Given the description of an element on the screen output the (x, y) to click on. 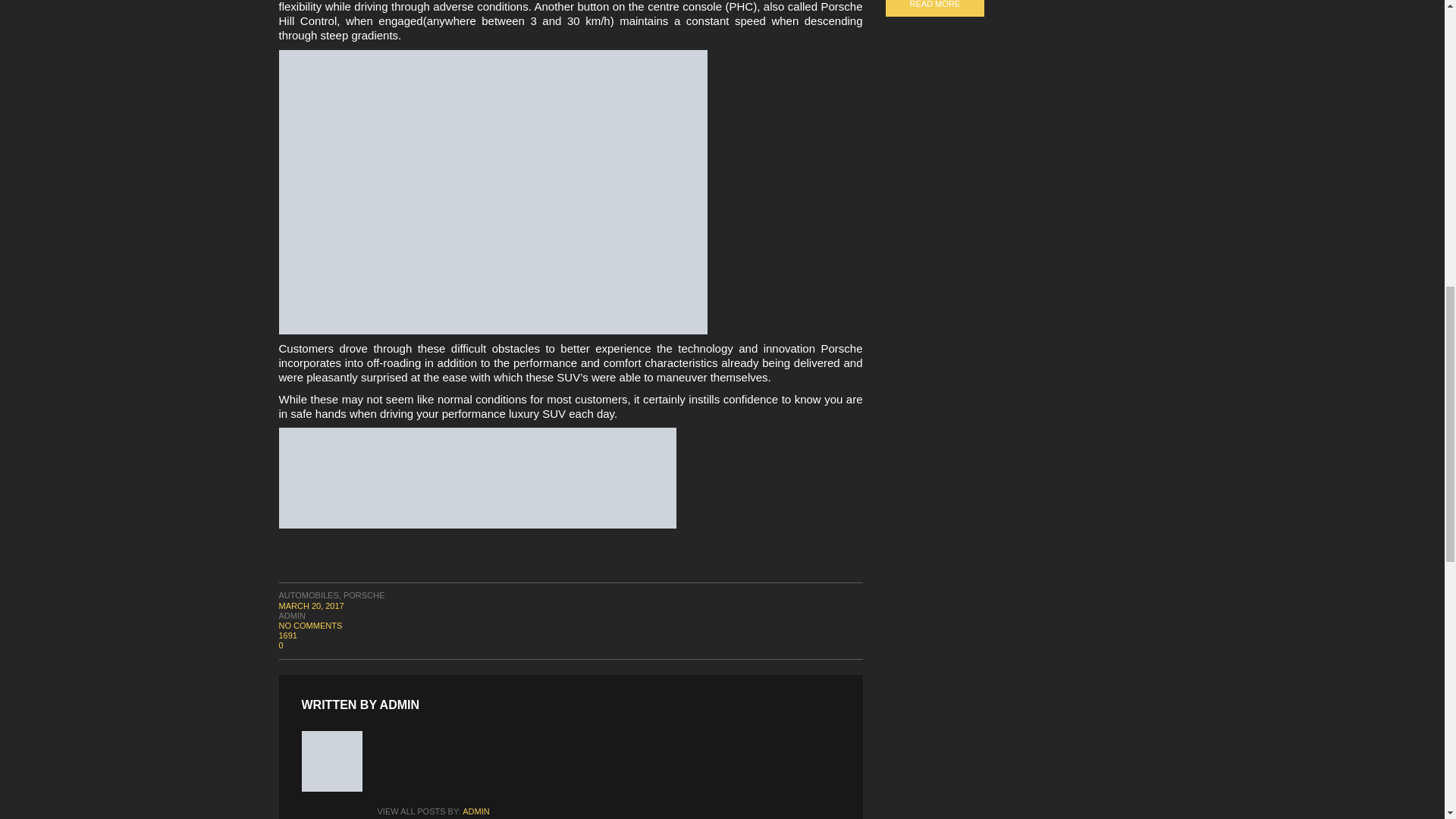
PORSCHE (363, 594)
AUTOMOBILES (309, 594)
NO COMMENTS (310, 624)
0 (571, 645)
ADMIN (399, 703)
Posts by admin (476, 810)
ADMIN (292, 614)
Posts by admin (292, 614)
Number of view. (571, 635)
Posts by admin (399, 703)
